Given the description of an element on the screen output the (x, y) to click on. 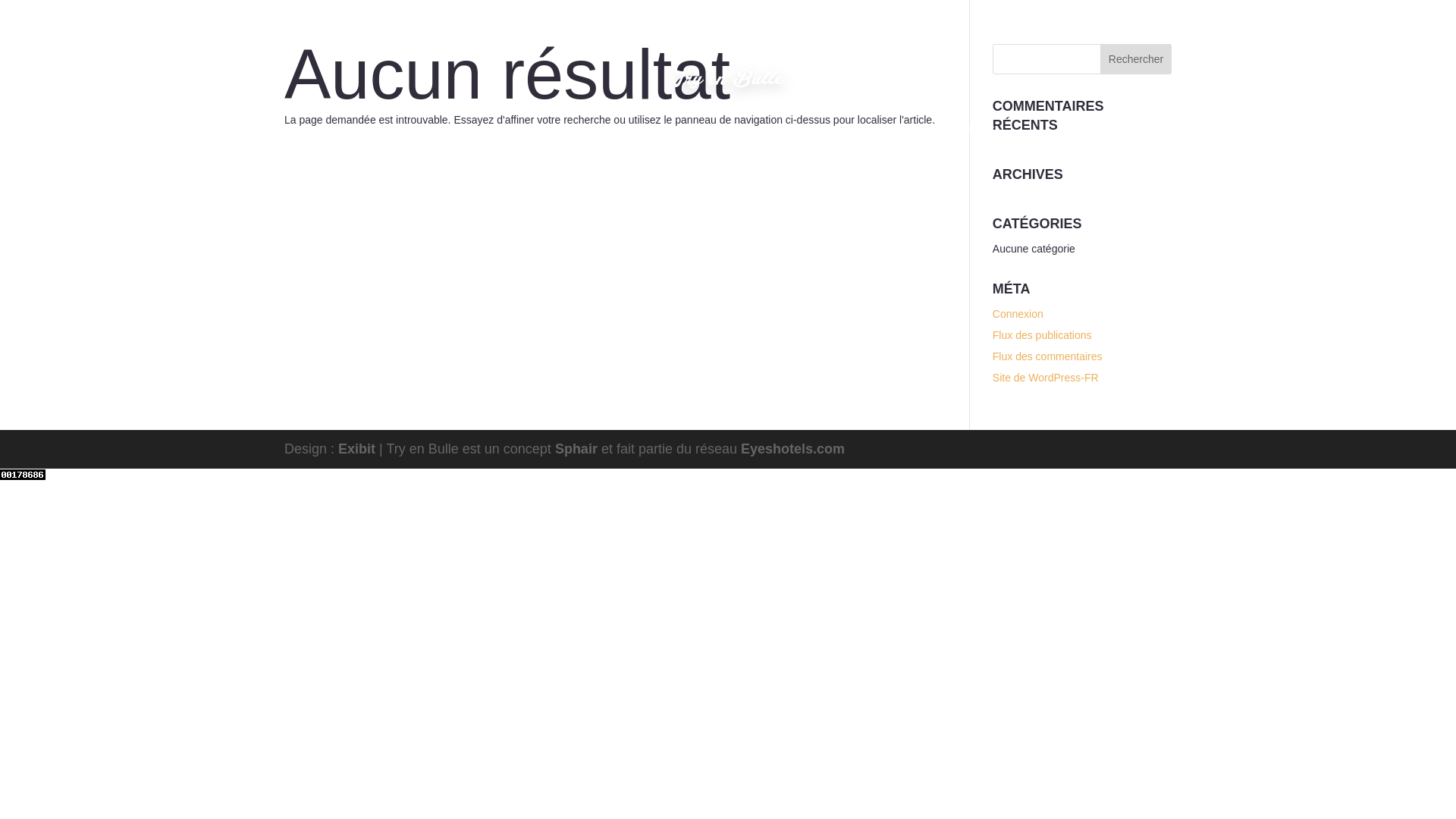
Flux des commentaires (1047, 356)
Exibit (356, 448)
PHOTOS (537, 139)
Flux des publications (1042, 335)
Connexion (1017, 313)
Rechercher (1136, 59)
Sphair (575, 448)
ACCUEIL (479, 139)
Rechercher (1136, 59)
Site de WordPress-FR (1045, 377)
Eyeshotels.com (792, 448)
CONFORT (715, 139)
CONTACT (778, 139)
